Given the description of an element on the screen output the (x, y) to click on. 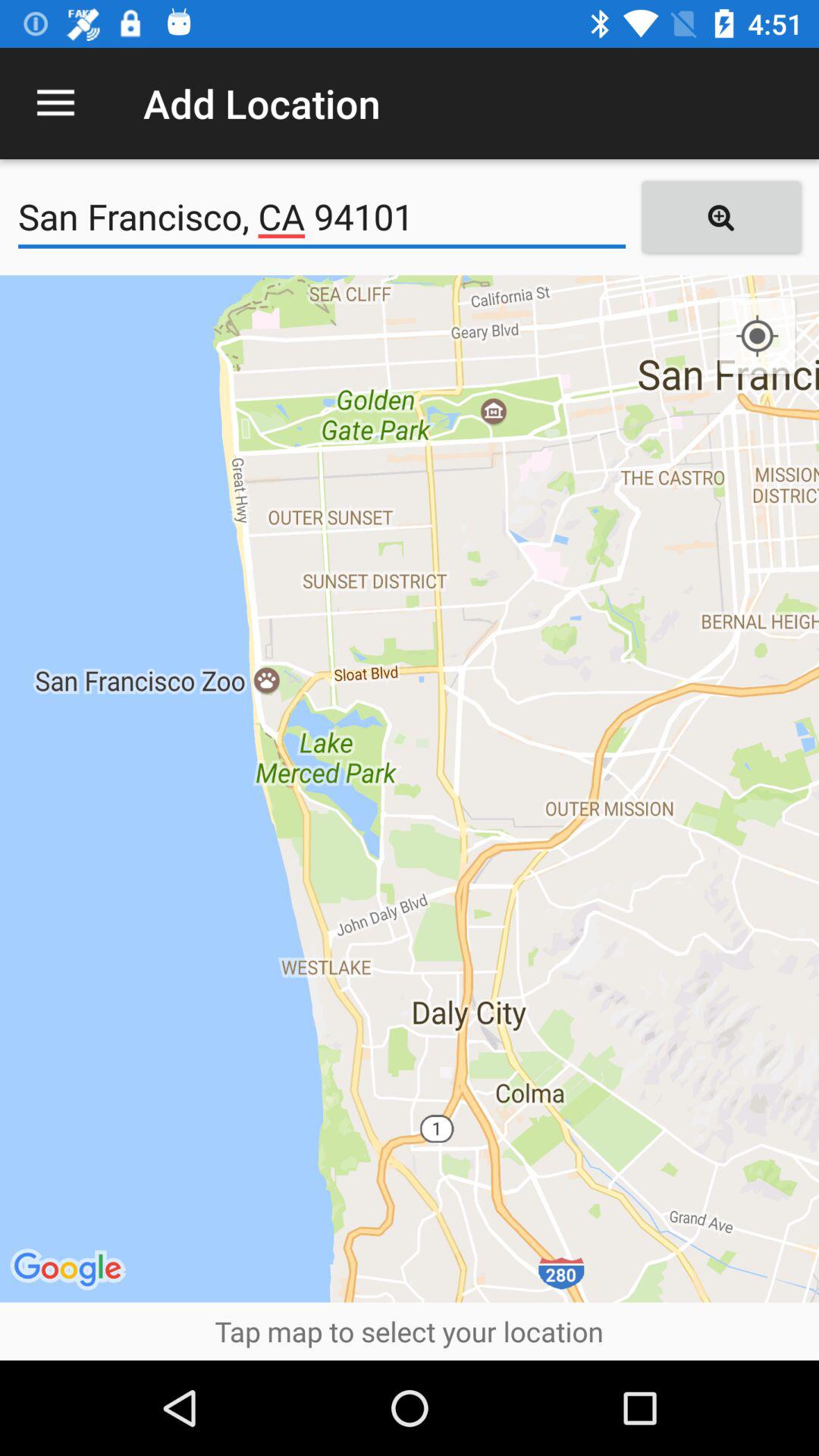
turn on the san francisco ca item (321, 217)
